Given the description of an element on the screen output the (x, y) to click on. 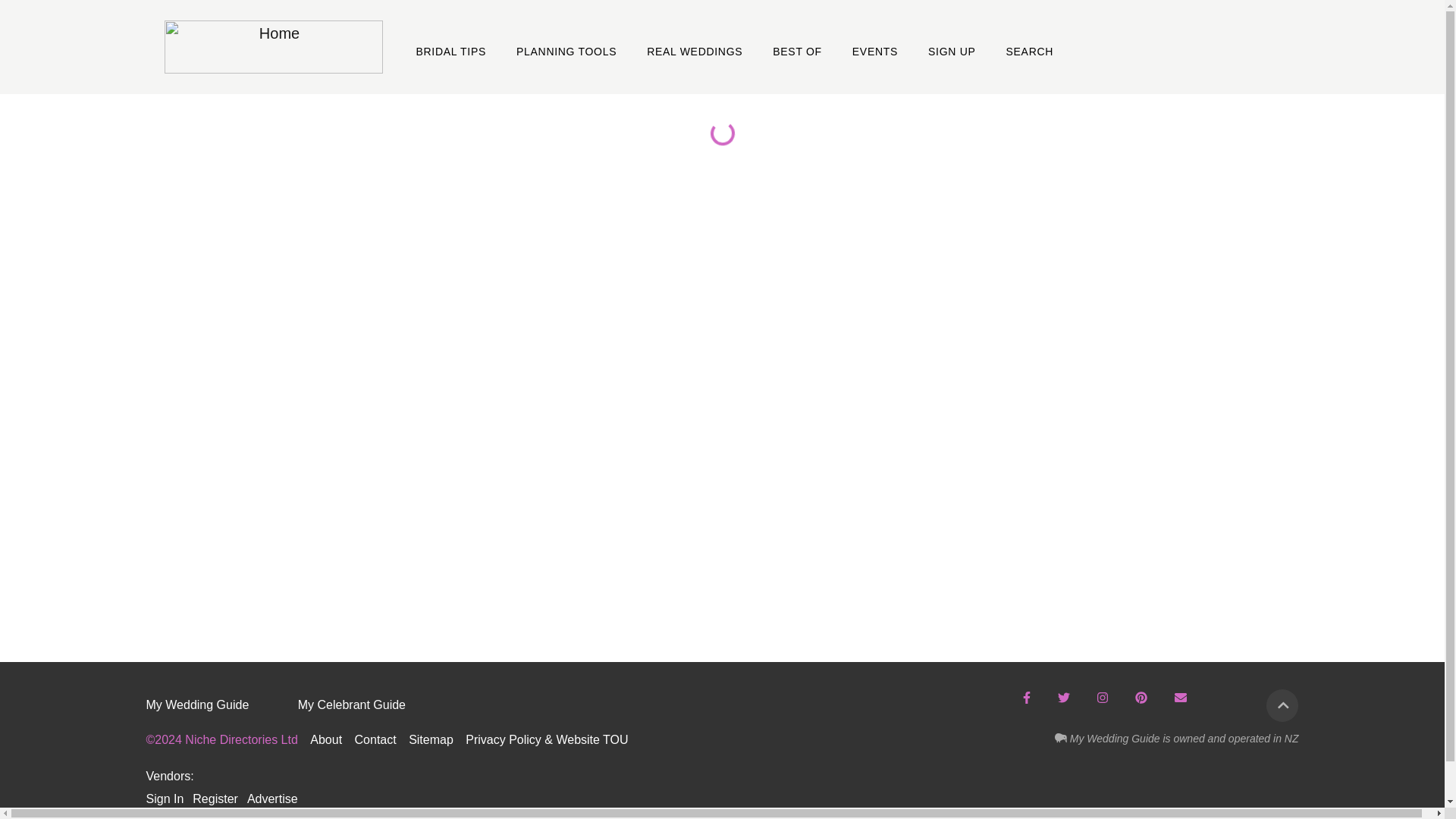
Home (272, 46)
SEARCH (1029, 46)
Contact (377, 738)
Join (1180, 697)
BRIDAL TIPS (450, 46)
Sign In (164, 799)
REAL WEDDINGS (694, 46)
Register (215, 799)
Instagram (1101, 697)
PLANNING TOOLS (567, 46)
